Given the description of an element on the screen output the (x, y) to click on. 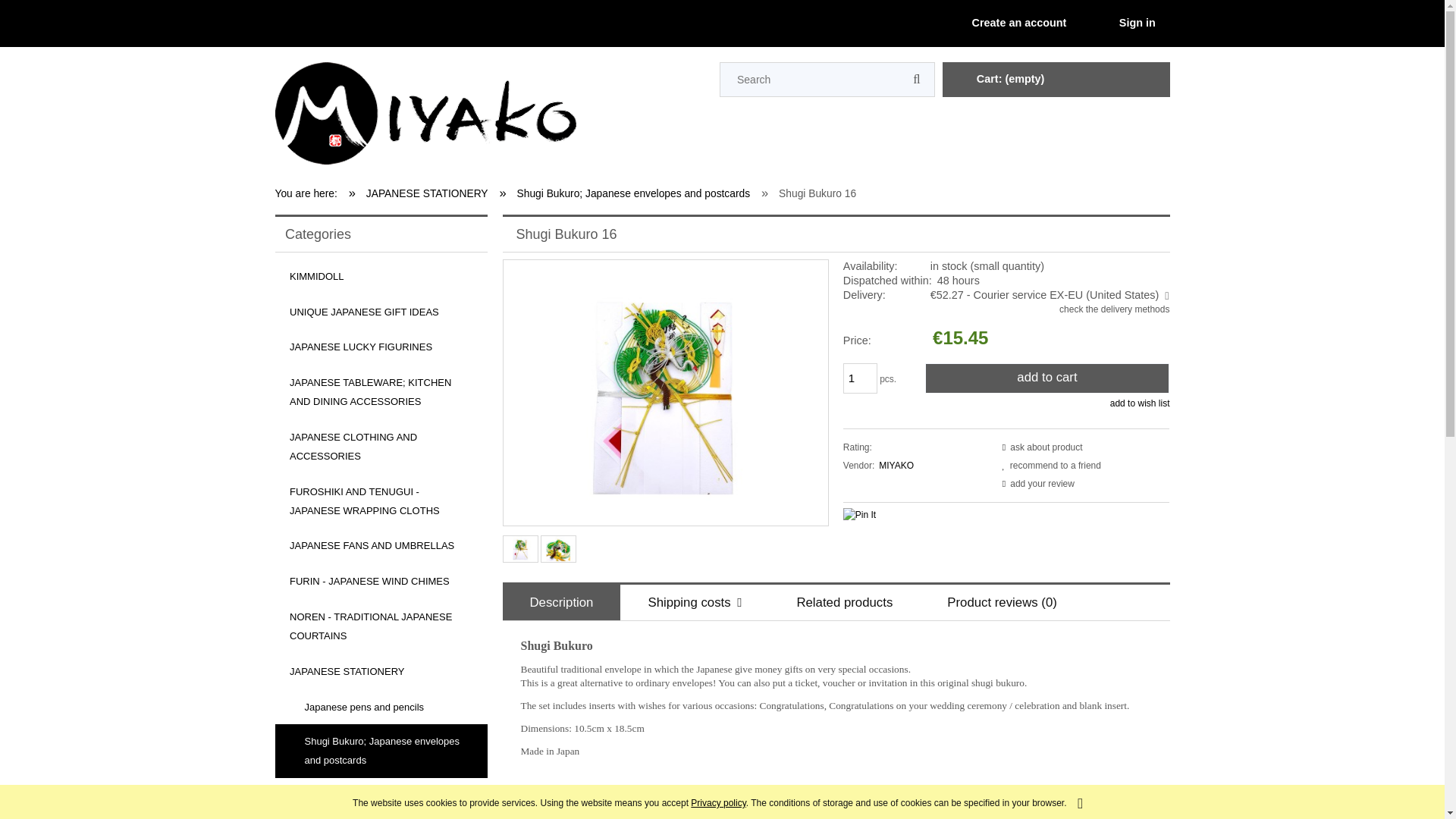
Sign in (1124, 22)
You are here: (311, 193)
KIMMIDOLL (380, 276)
Cart (998, 79)
NOREN - TRADITIONAL JAPANESE COURTAINS (380, 626)
Sign in (1124, 22)
JAPANESE LUCKY FIGURINES (380, 347)
Shugi Bukuro; Japanese envelopes and postcards (380, 750)
Home page (311, 193)
FURIN - JAPANESE WIND CHIMES (380, 581)
